Given the description of an element on the screen output the (x, y) to click on. 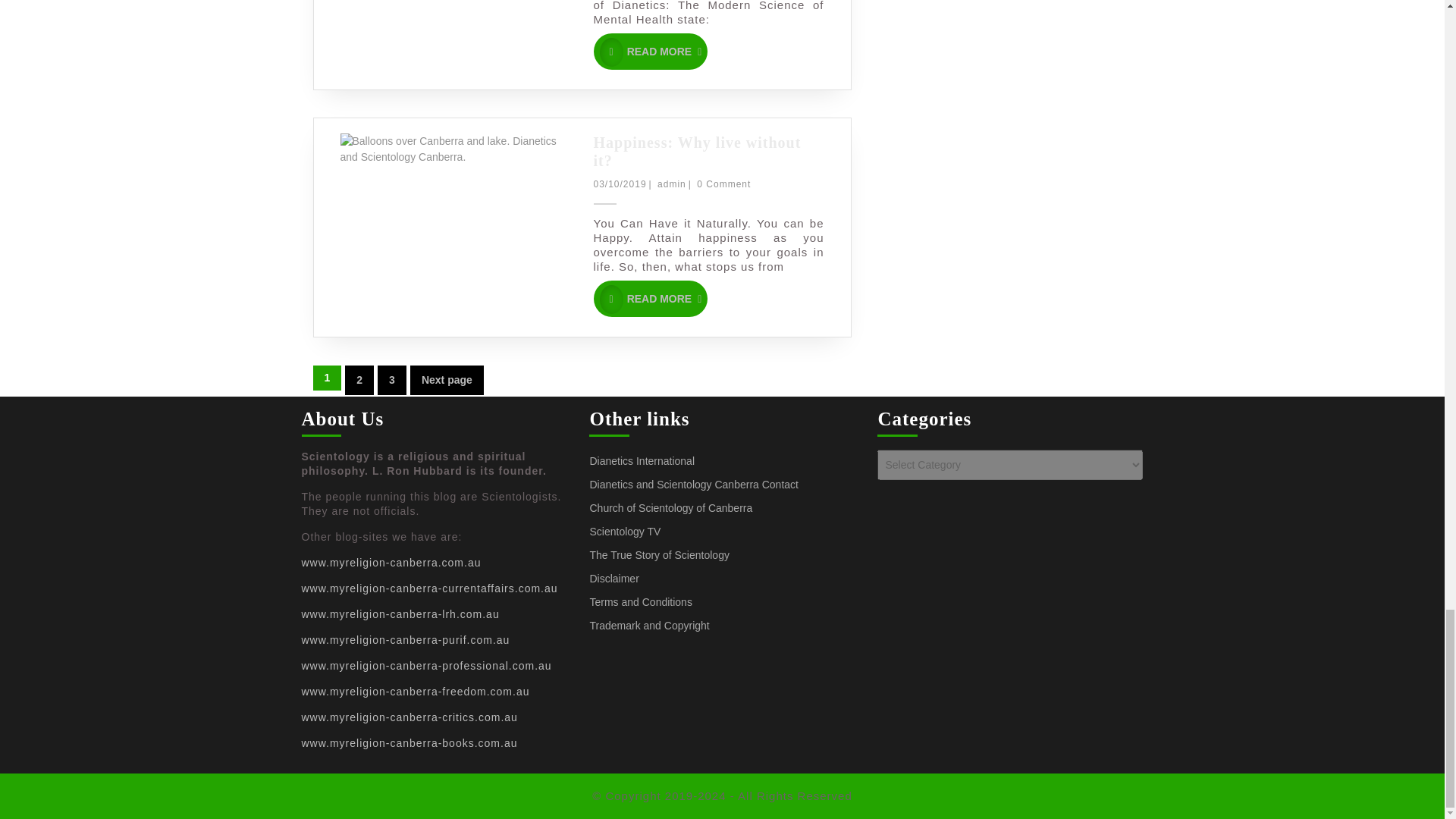
Next page (446, 379)
www.myreligion-canberra-currentaffairs.com.au (429, 588)
www.myreligion-canberra.com.au (391, 562)
